Given the description of an element on the screen output the (x, y) to click on. 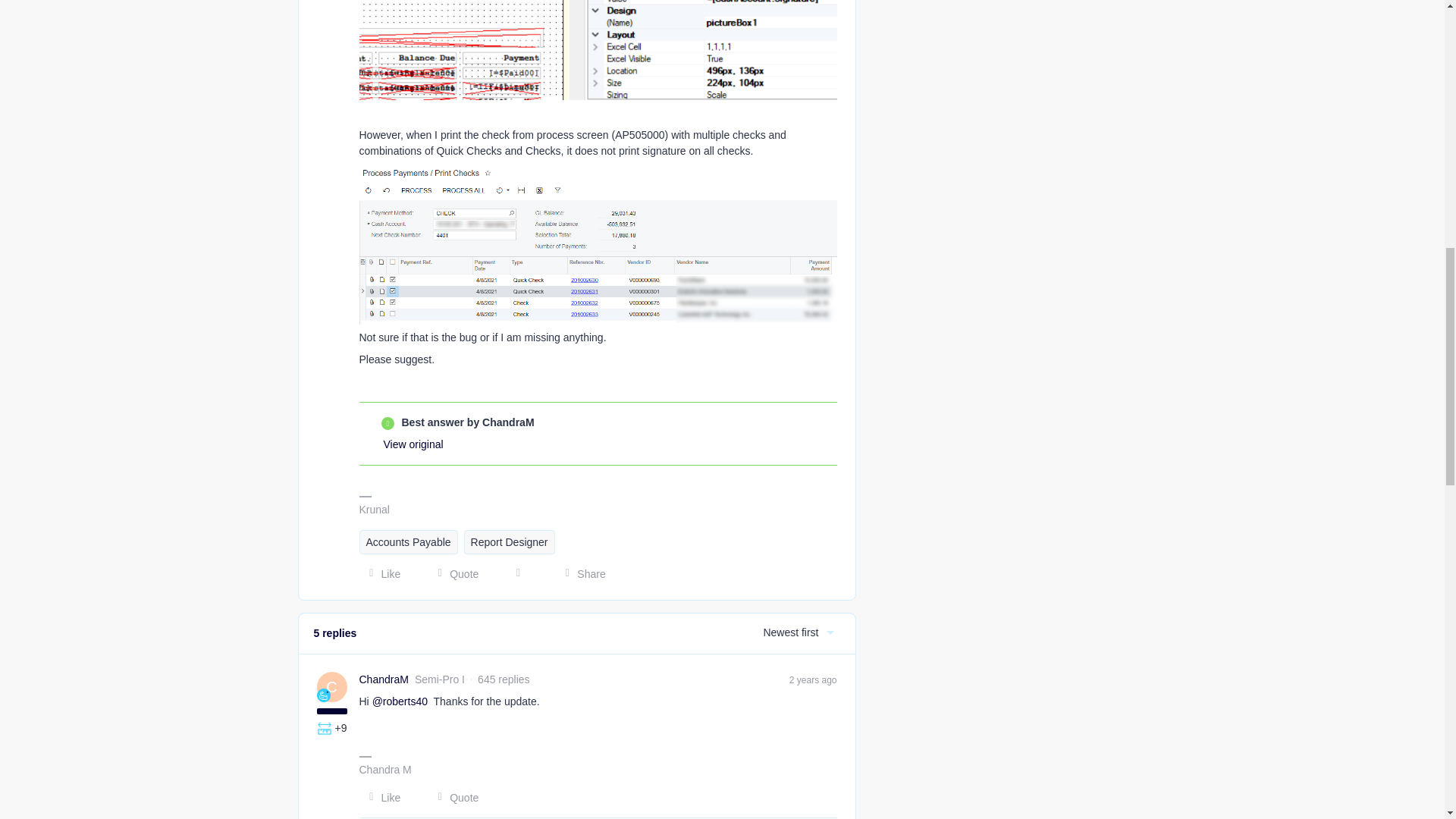
Semi-Pro I (323, 694)
ChandraM (384, 679)
Customizations expert (324, 727)
